Given the description of an element on the screen output the (x, y) to click on. 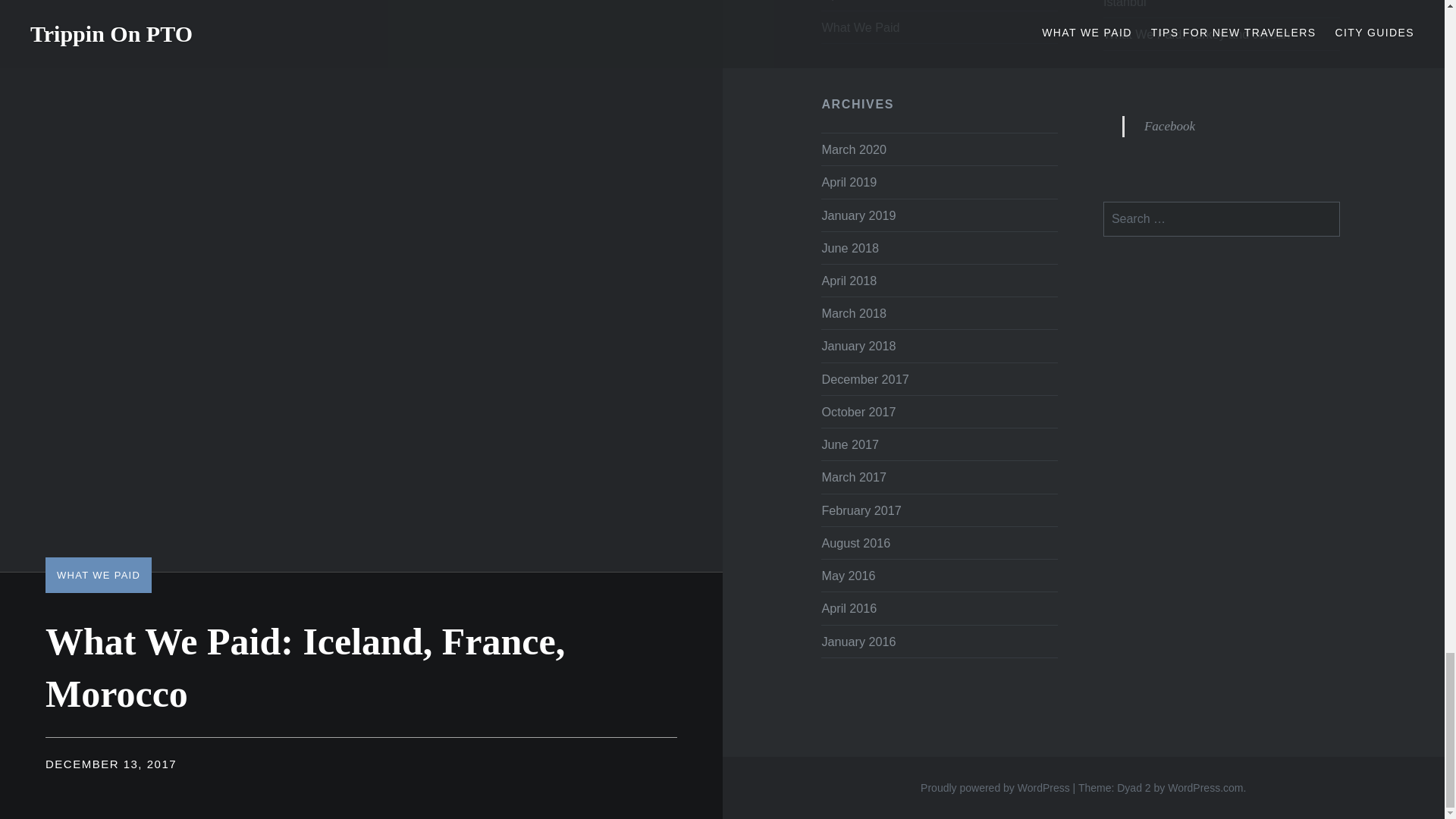
June 2017 (850, 444)
March 2020 (853, 149)
What We Paid: Turkey and Jordan (1221, 34)
October 2017 (858, 411)
December 2017 (864, 378)
January 2019 (858, 214)
March 2018 (853, 313)
January 2018 (858, 345)
April 2019 (848, 182)
